Given the description of an element on the screen output the (x, y) to click on. 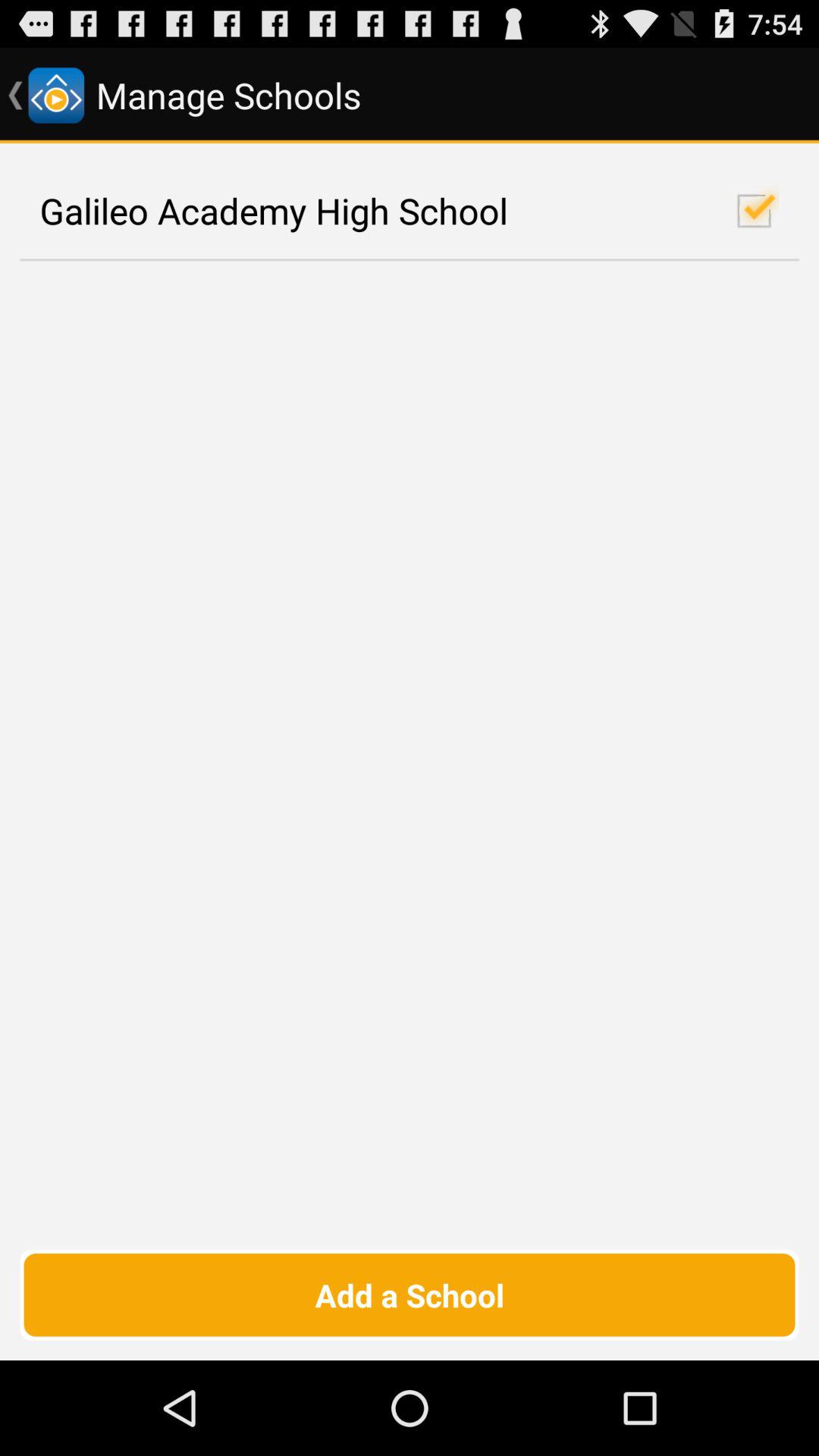
choose the checkbox below galileo academy high icon (409, 1294)
